Given the description of an element on the screen output the (x, y) to click on. 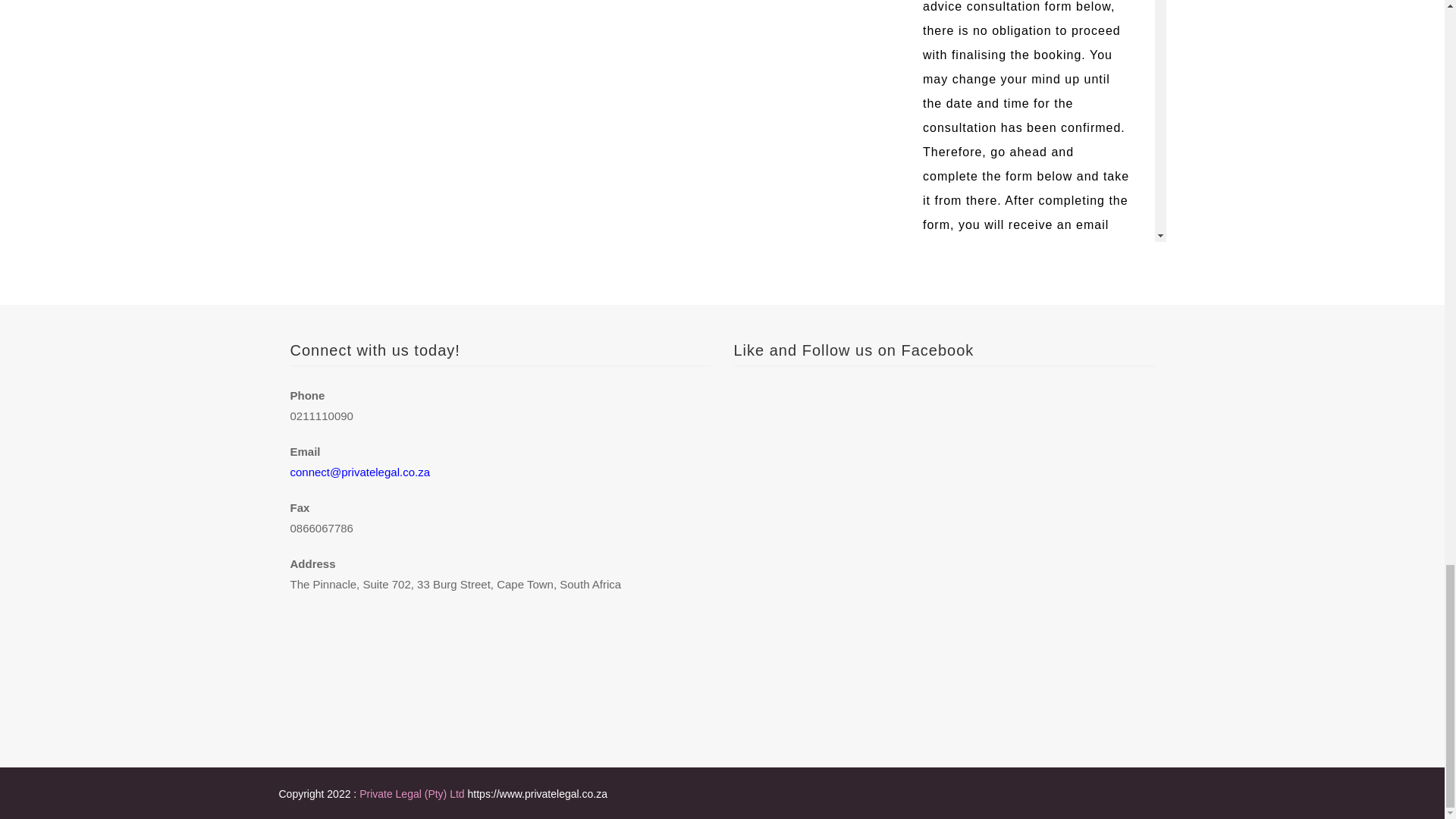
Likebox Iframe (943, 543)
Free Copyright 2022 (413, 793)
